Given the description of an element on the screen output the (x, y) to click on. 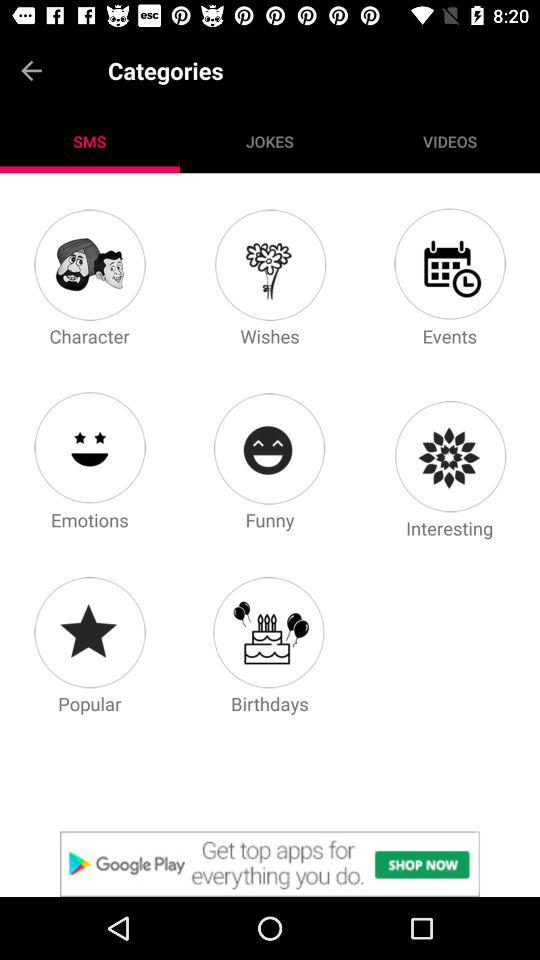
popular (89, 632)
